Given the description of an element on the screen output the (x, y) to click on. 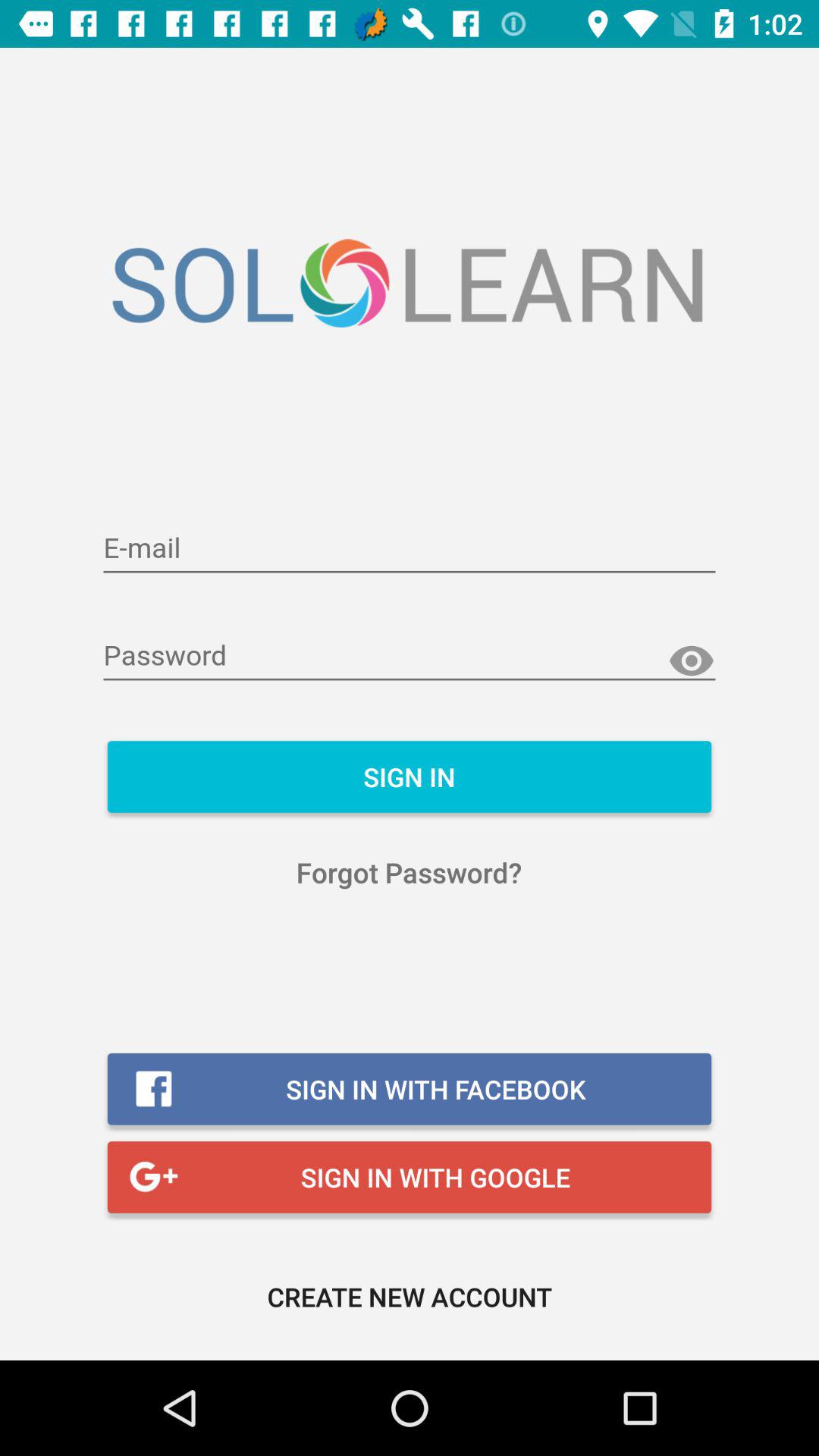
select the forgot password? item (409, 872)
